Given the description of an element on the screen output the (x, y) to click on. 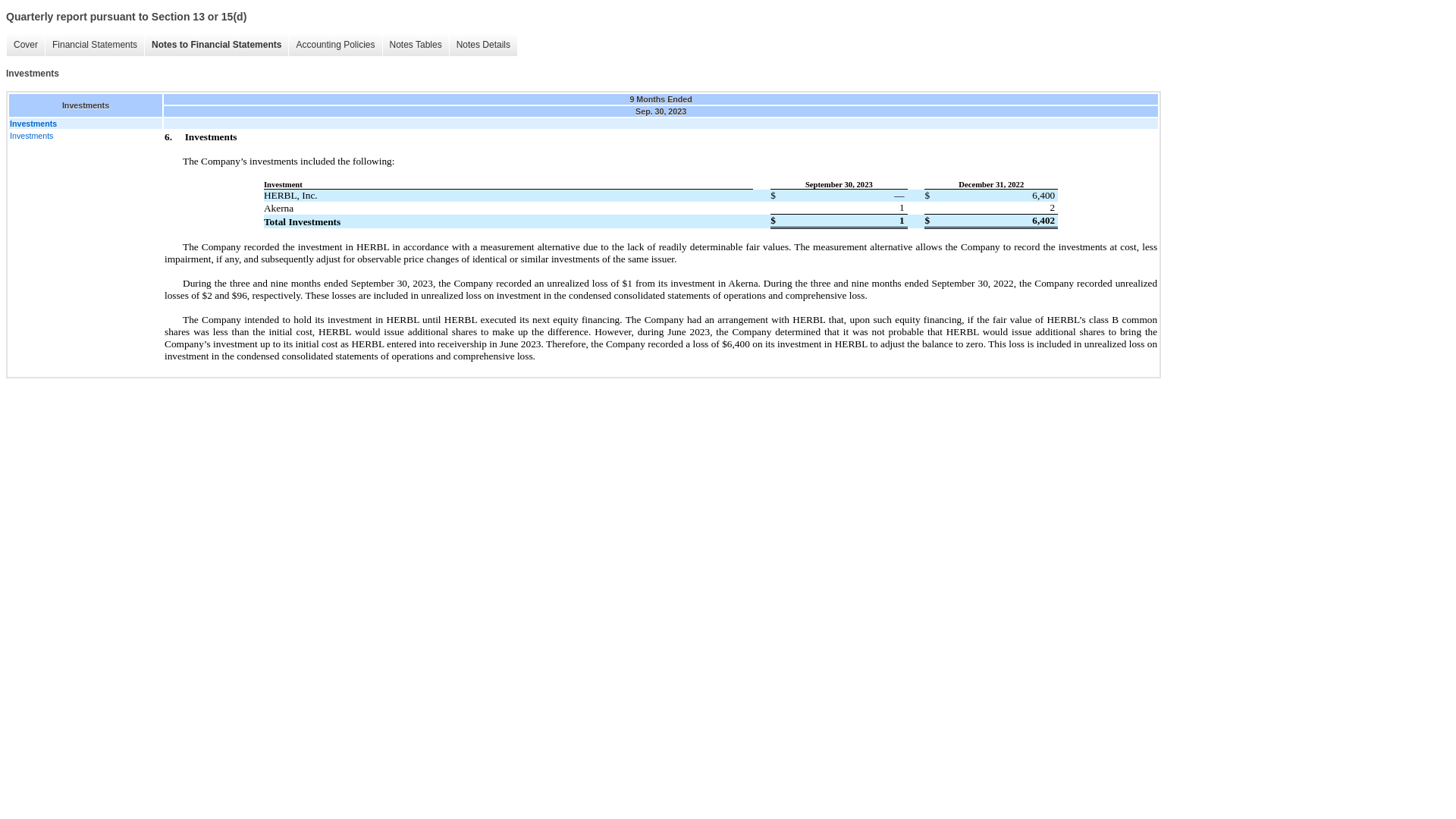
Financial Statements (94, 44)
Notes to Financial Statements (216, 44)
Cover (25, 44)
Notes Tables (414, 44)
Accounting Policies (334, 44)
